Given the description of an element on the screen output the (x, y) to click on. 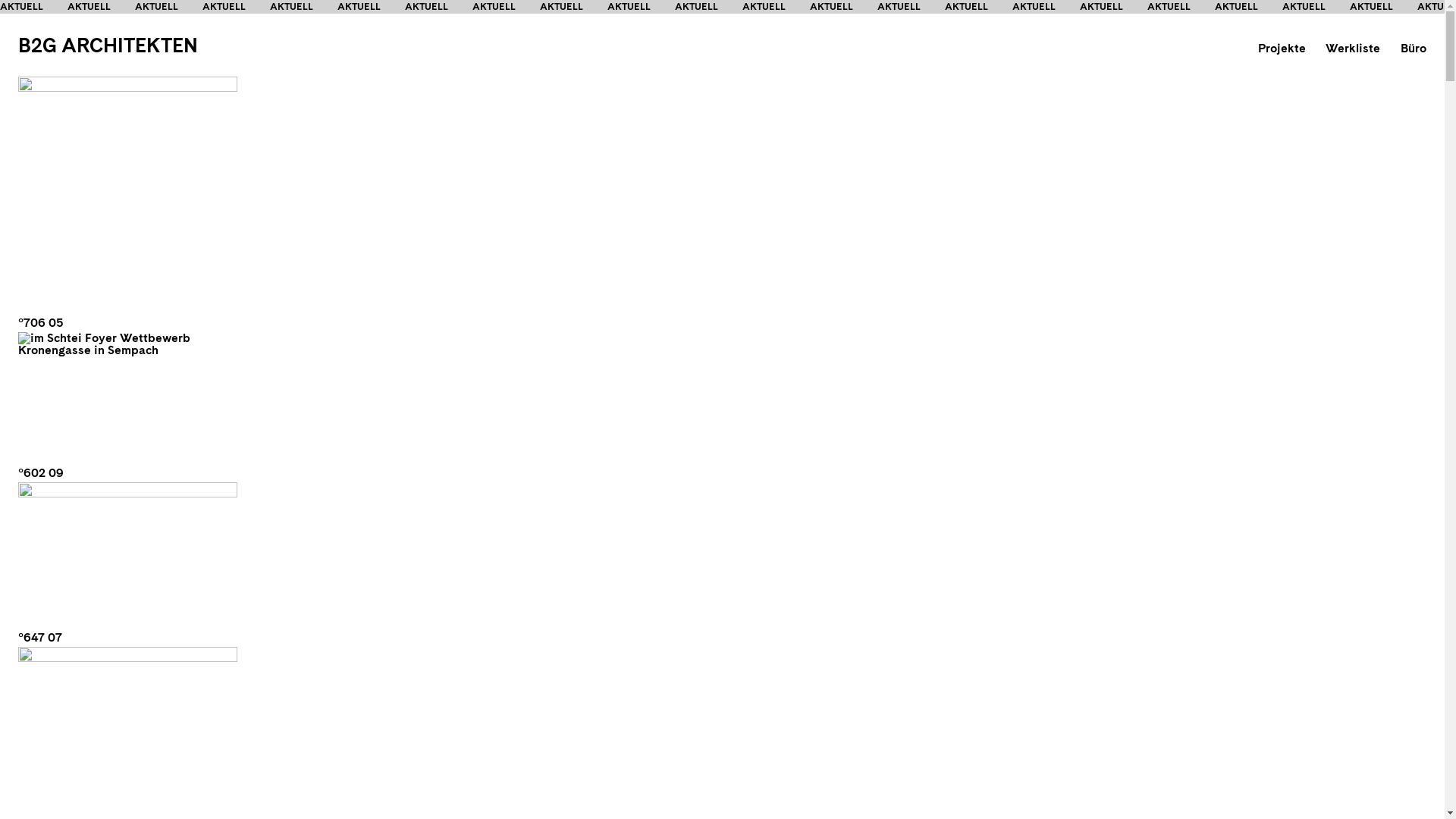
Projekte Element type: text (1281, 47)
Werkliste Element type: text (1352, 47)
B2G ARCHITEKTEN Element type: text (107, 44)
